Given the description of an element on the screen output the (x, y) to click on. 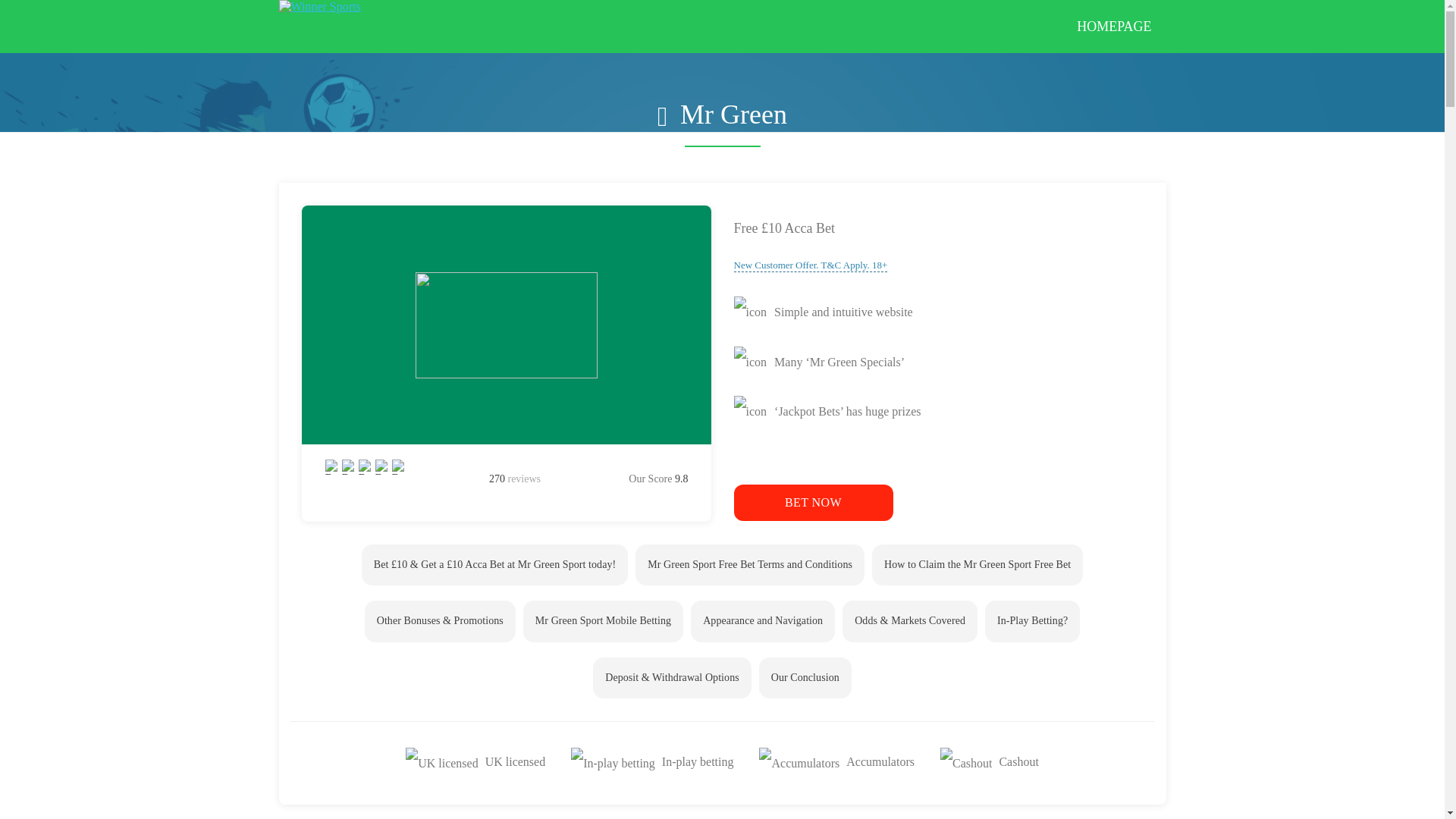
Mr Green Sport Free Bet Terms and Conditions (749, 564)
HOMEPAGE (1114, 26)
How to Claim the Mr Green Sport Free Bet (977, 564)
Appearance and Navigation (762, 620)
Mr Green Sport Mobile Betting (602, 620)
BET NOW (813, 502)
In-Play Betting? (1032, 620)
Our Conclusion (804, 677)
